Given the description of an element on the screen output the (x, y) to click on. 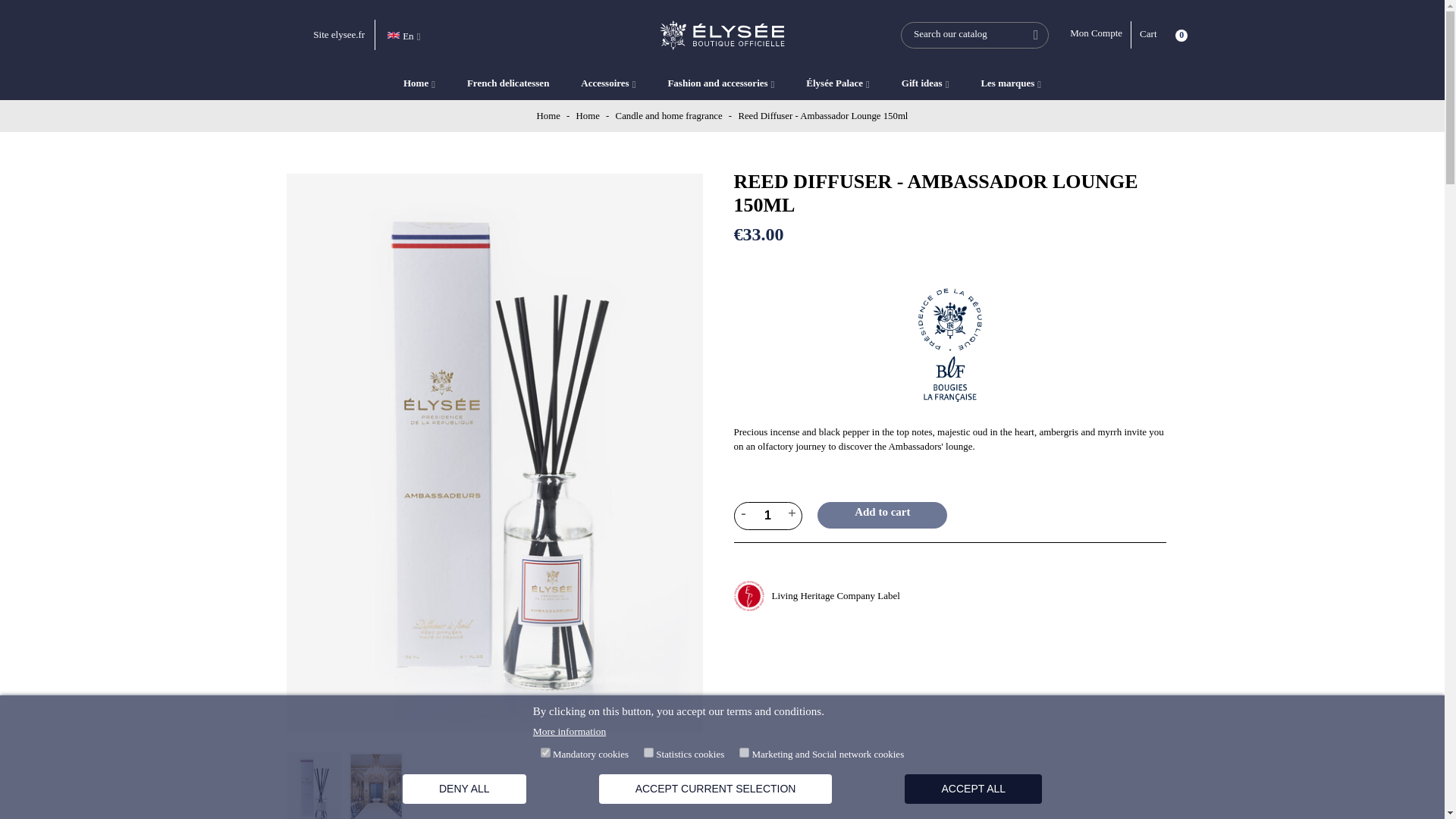
Site elysee.fr (339, 34)
on (648, 752)
Mon Compte (1100, 34)
Log in to your customer account (1100, 34)
on (545, 752)
on (744, 752)
1 (768, 515)
Gift ideas (924, 83)
French delicatessen (507, 83)
Fashion and accessories (720, 83)
Home (418, 83)
Candle and home fragrance (670, 115)
Accessoires (608, 83)
Home (589, 115)
Home (549, 115)
